Given the description of an element on the screen output the (x, y) to click on. 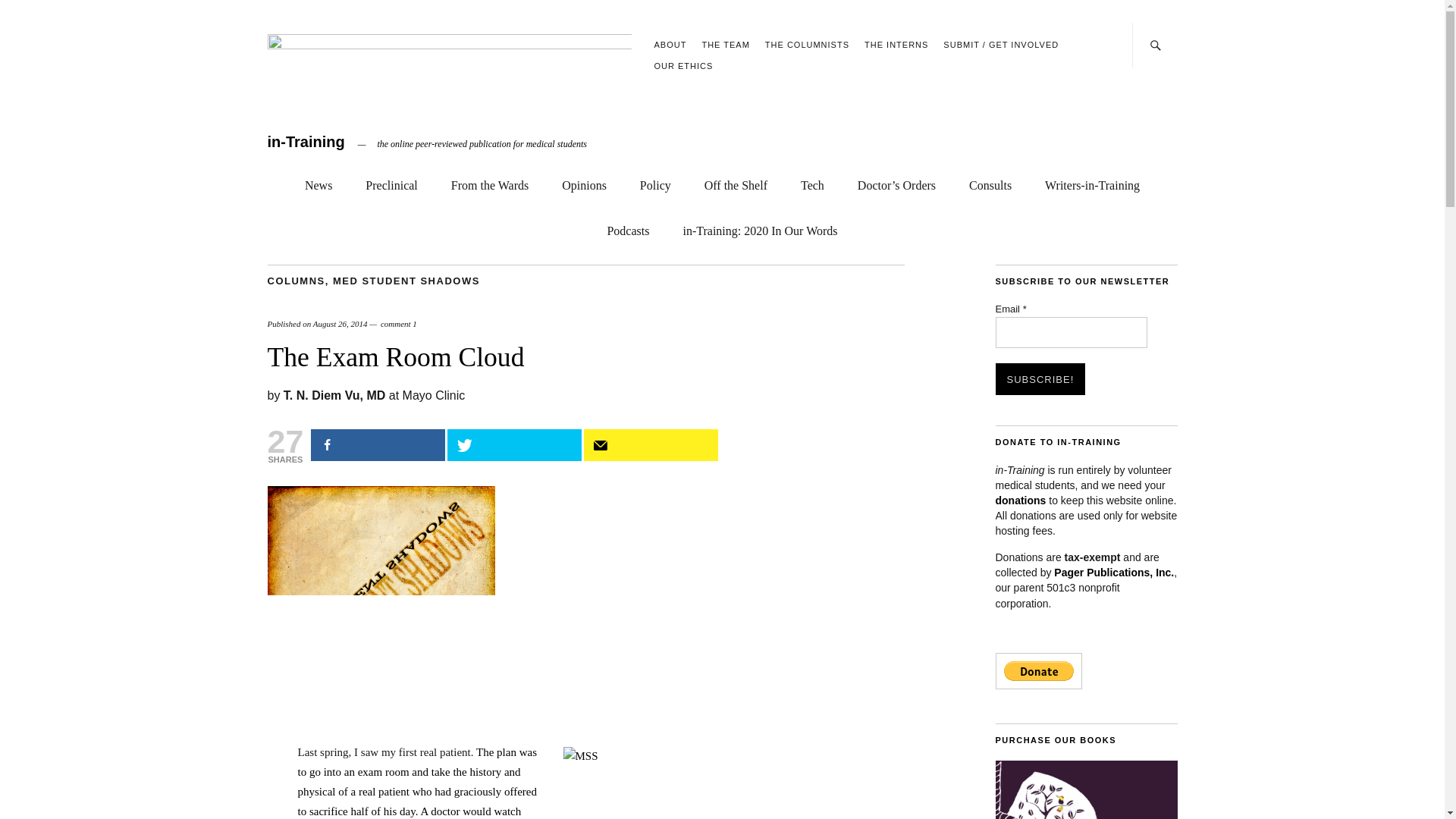
News (317, 181)
THE INTERNS (896, 44)
Subscribe (650, 445)
THE COLUMNISTS (806, 44)
Preclinical (390, 181)
MED STUDENT SHADOWS (406, 279)
Consults (990, 181)
Tech (812, 181)
August 26, 2014 (340, 323)
comment 1 (398, 323)
